Given the description of an element on the screen output the (x, y) to click on. 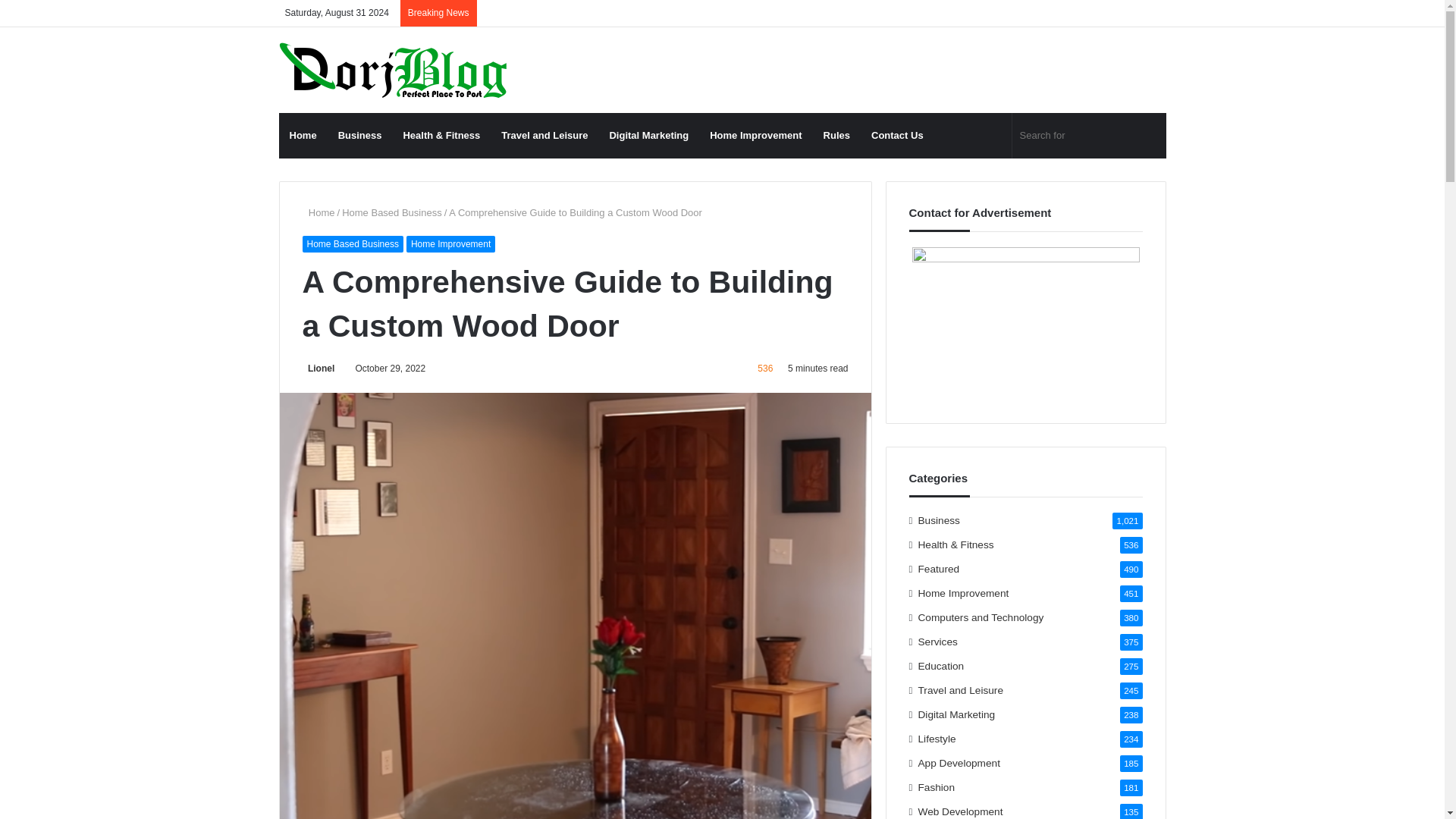
Digital Marketing (648, 135)
Dorj Blog (392, 69)
Lionel (317, 368)
Home (303, 135)
Lionel (317, 368)
Rules (836, 135)
Contact Us (897, 135)
Home Improvement (450, 243)
Business (360, 135)
Home Based Business (352, 243)
